Given the description of an element on the screen output the (x, y) to click on. 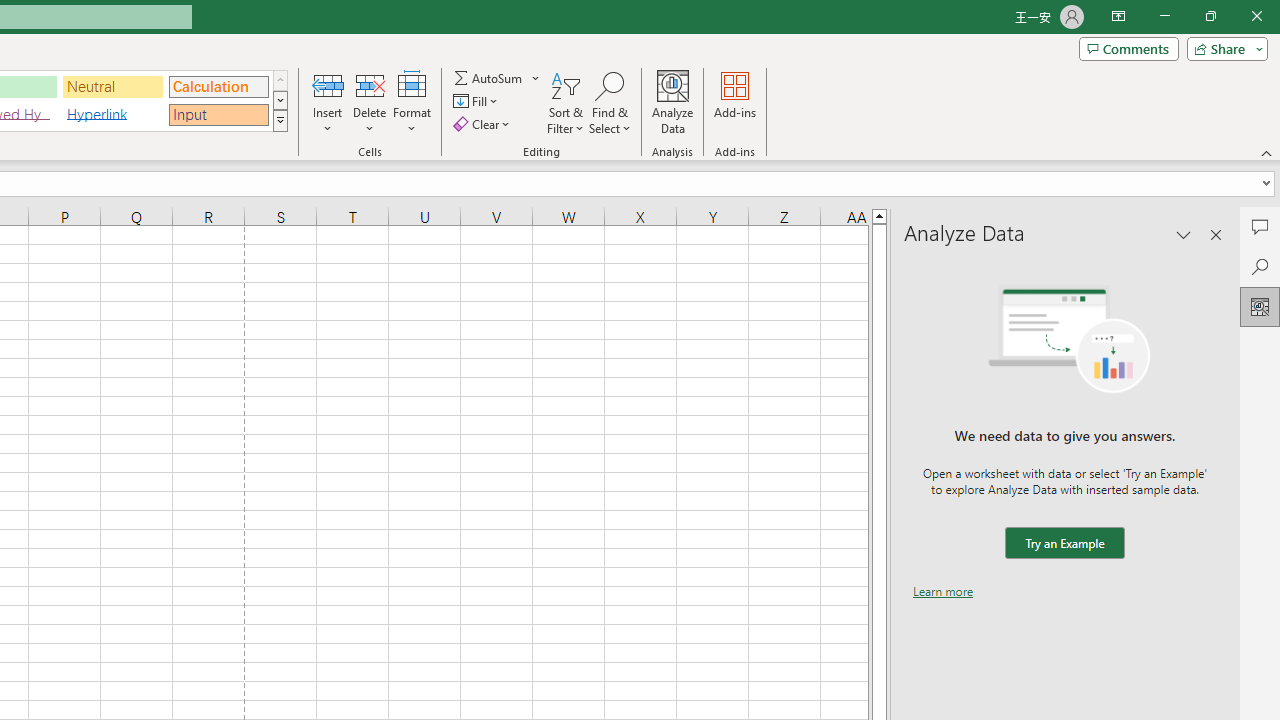
AutoSum (497, 78)
Cell Styles (280, 120)
Neutral (113, 86)
Learn more (943, 591)
Analyze Data (1260, 306)
Sum (489, 78)
Input (218, 114)
